Given the description of an element on the screen output the (x, y) to click on. 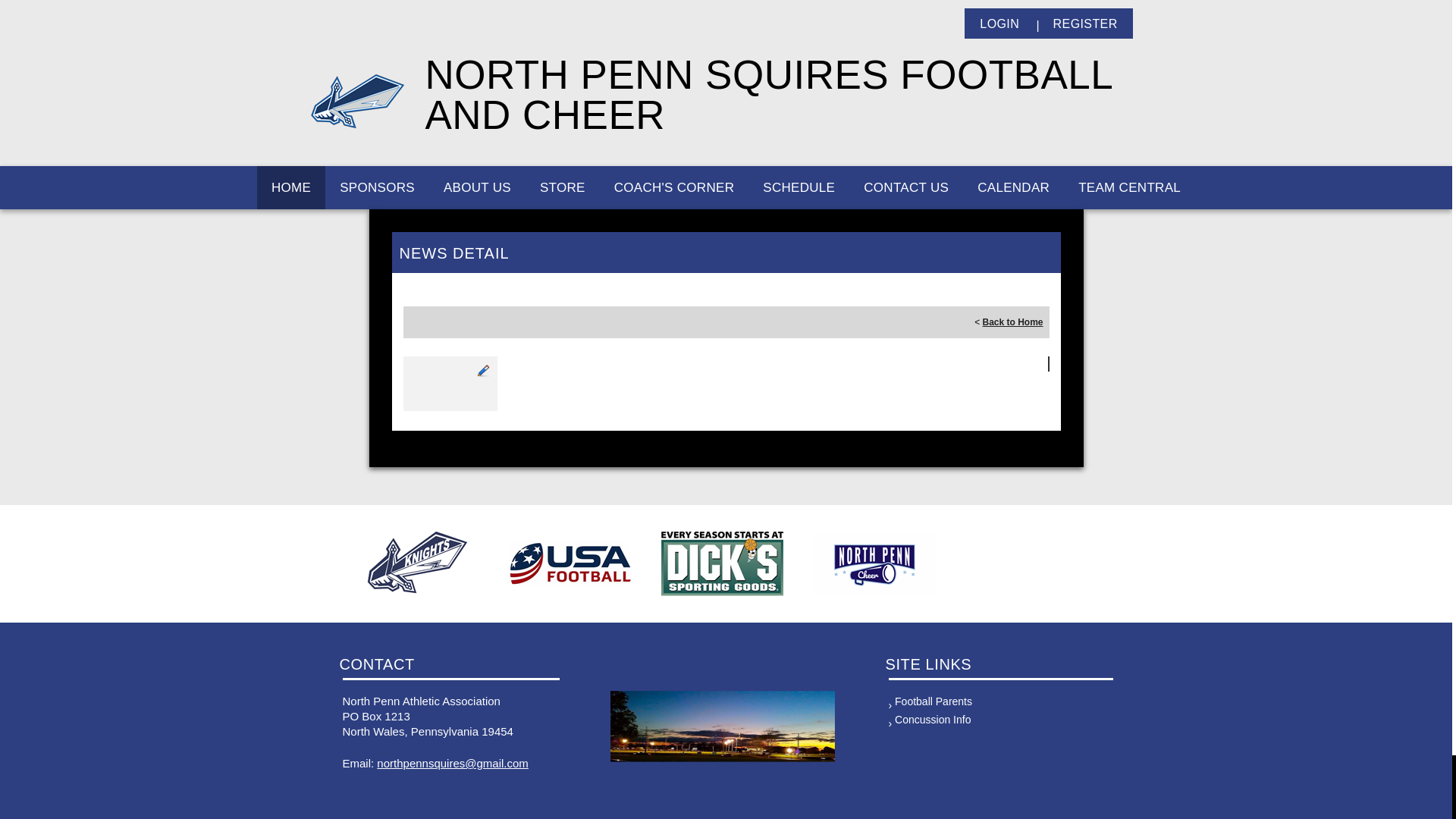
REGISTER (1085, 24)
HOME (290, 187)
LOGIN (998, 24)
North Penn Athletic Association (357, 100)
